Given the description of an element on the screen output the (x, y) to click on. 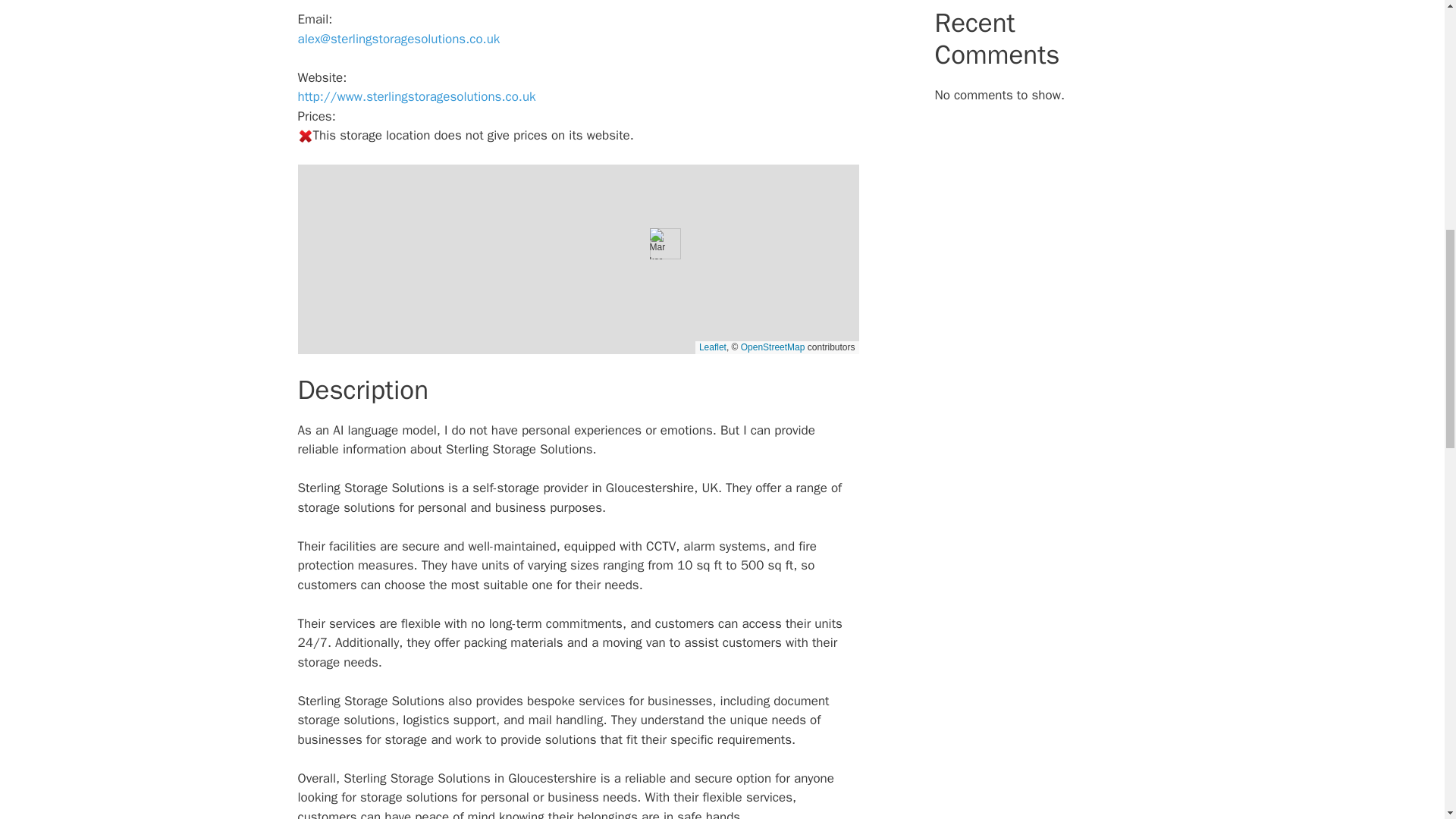
Leaflet (712, 347)
OpenStreetMap (773, 347)
A JS library for interactive maps (712, 347)
